Given the description of an element on the screen output the (x, y) to click on. 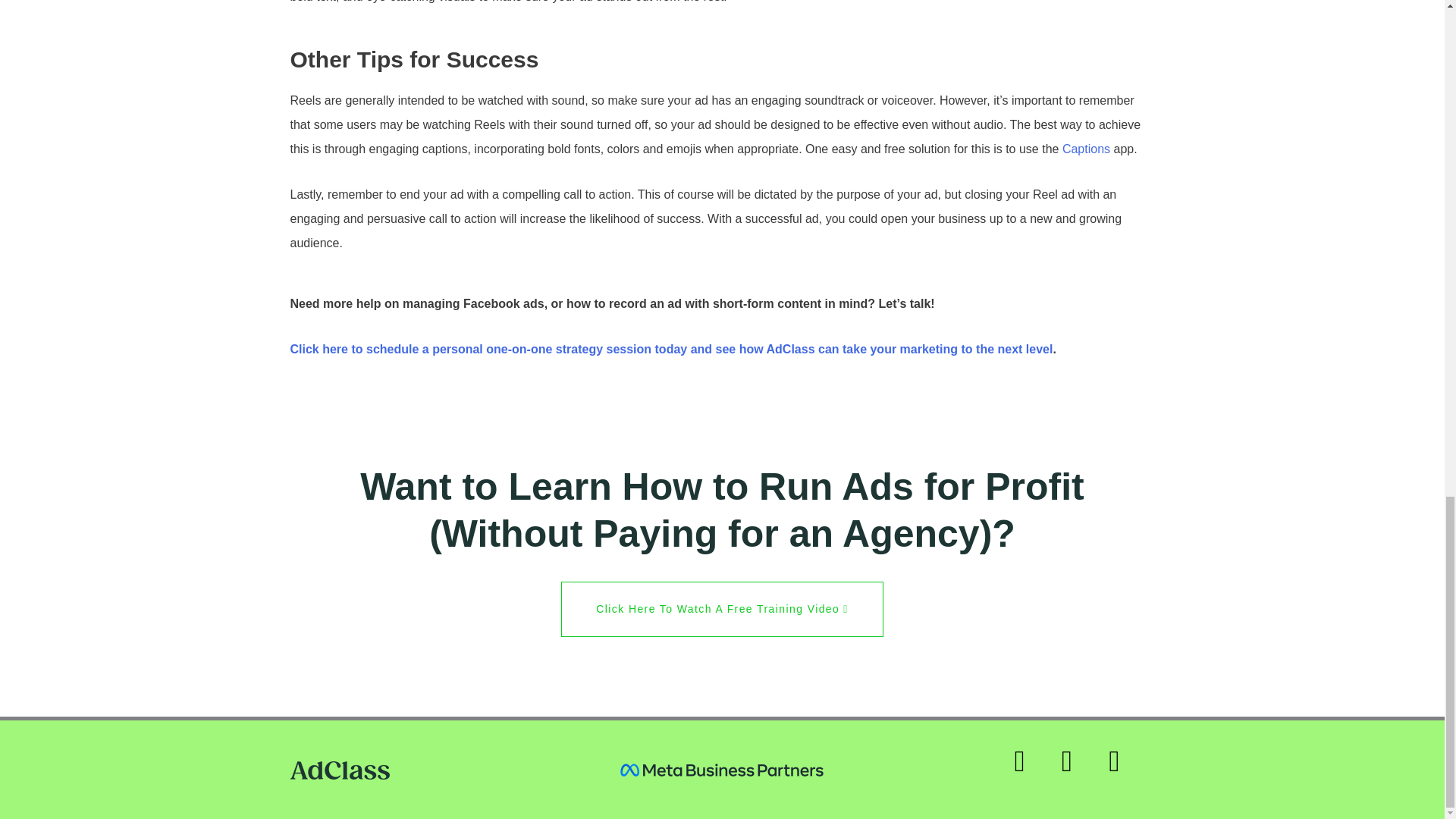
Click Here To Watch A Free Training Video (721, 609)
Youtube (1123, 769)
Facebook (1075, 769)
Instagram (1027, 769)
Captions (1085, 148)
